Given the description of an element on the screen output the (x, y) to click on. 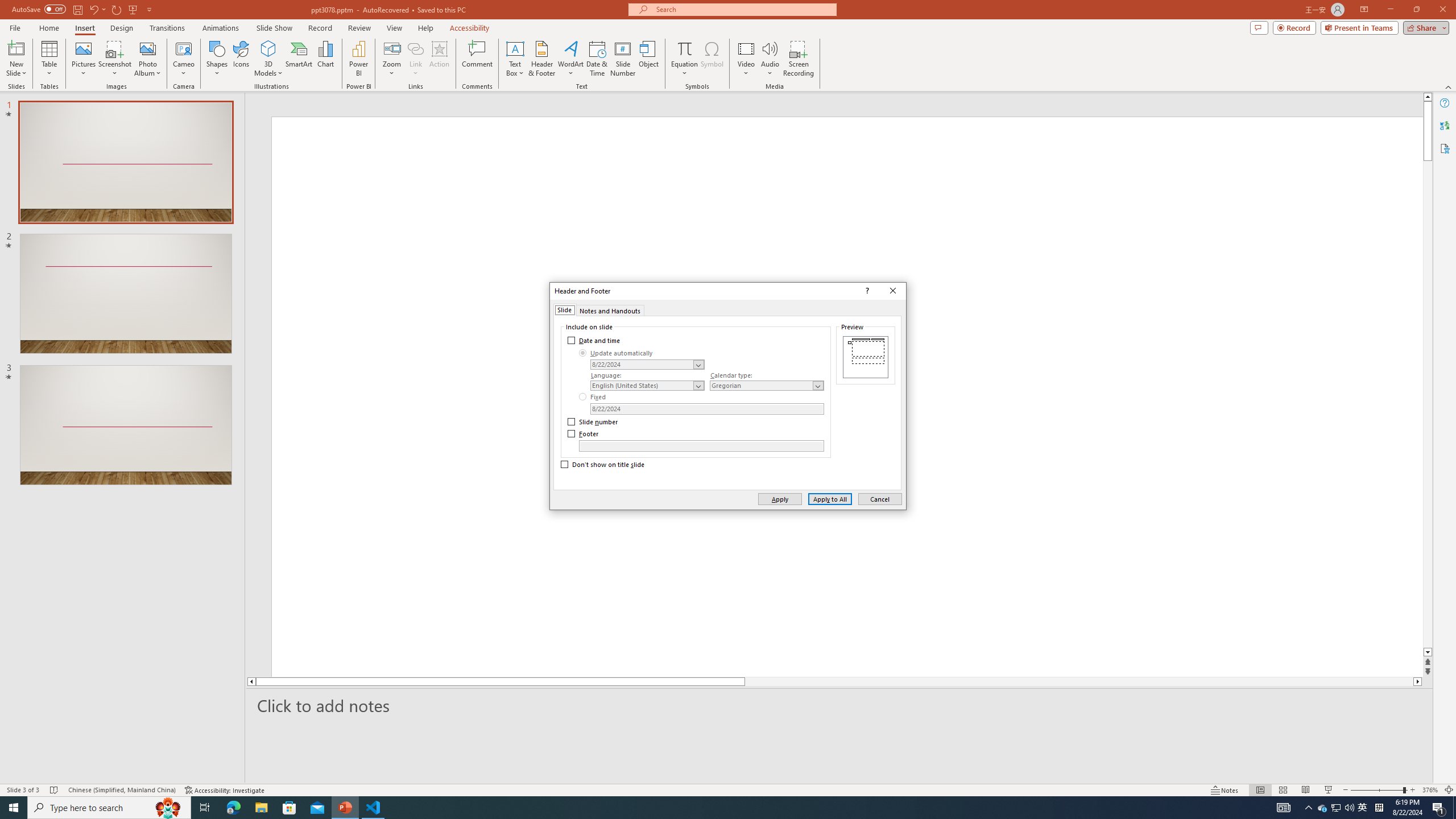
Action (439, 58)
Apply (779, 498)
Slide Number (622, 58)
Symbol... (711, 58)
Power BI (358, 58)
Photo Album... (147, 58)
